Given the description of an element on the screen output the (x, y) to click on. 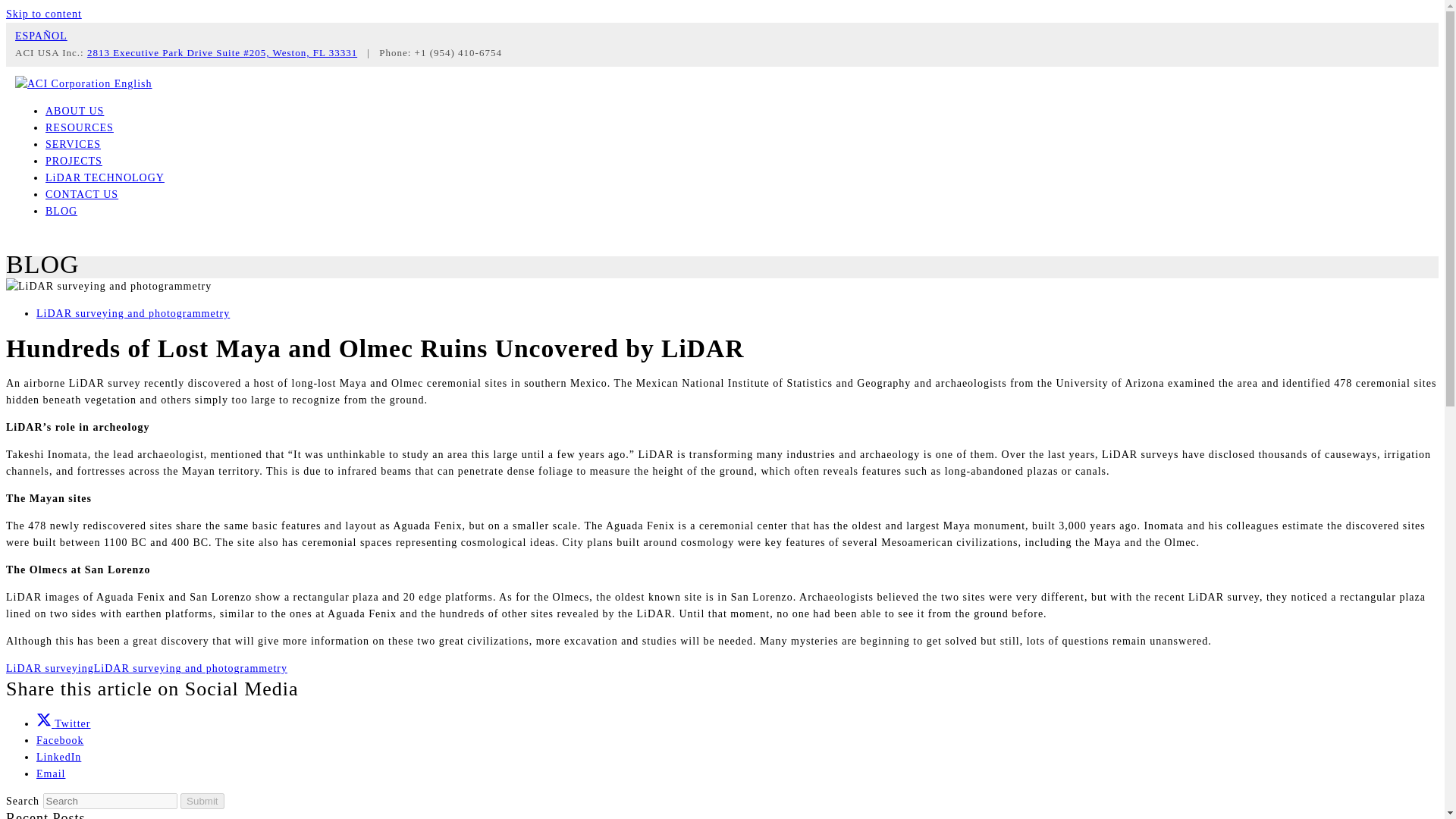
Twitter (63, 723)
BLOG (61, 211)
Submit (202, 801)
LinkedIn (58, 756)
LiDAR surveying and photogrammetry (133, 313)
LiDAR TECHNOLOGY (104, 177)
Skip to content (43, 13)
CONTACT US (81, 194)
LiDAR surveying (49, 668)
SERVICES (72, 143)
